Given the description of an element on the screen output the (x, y) to click on. 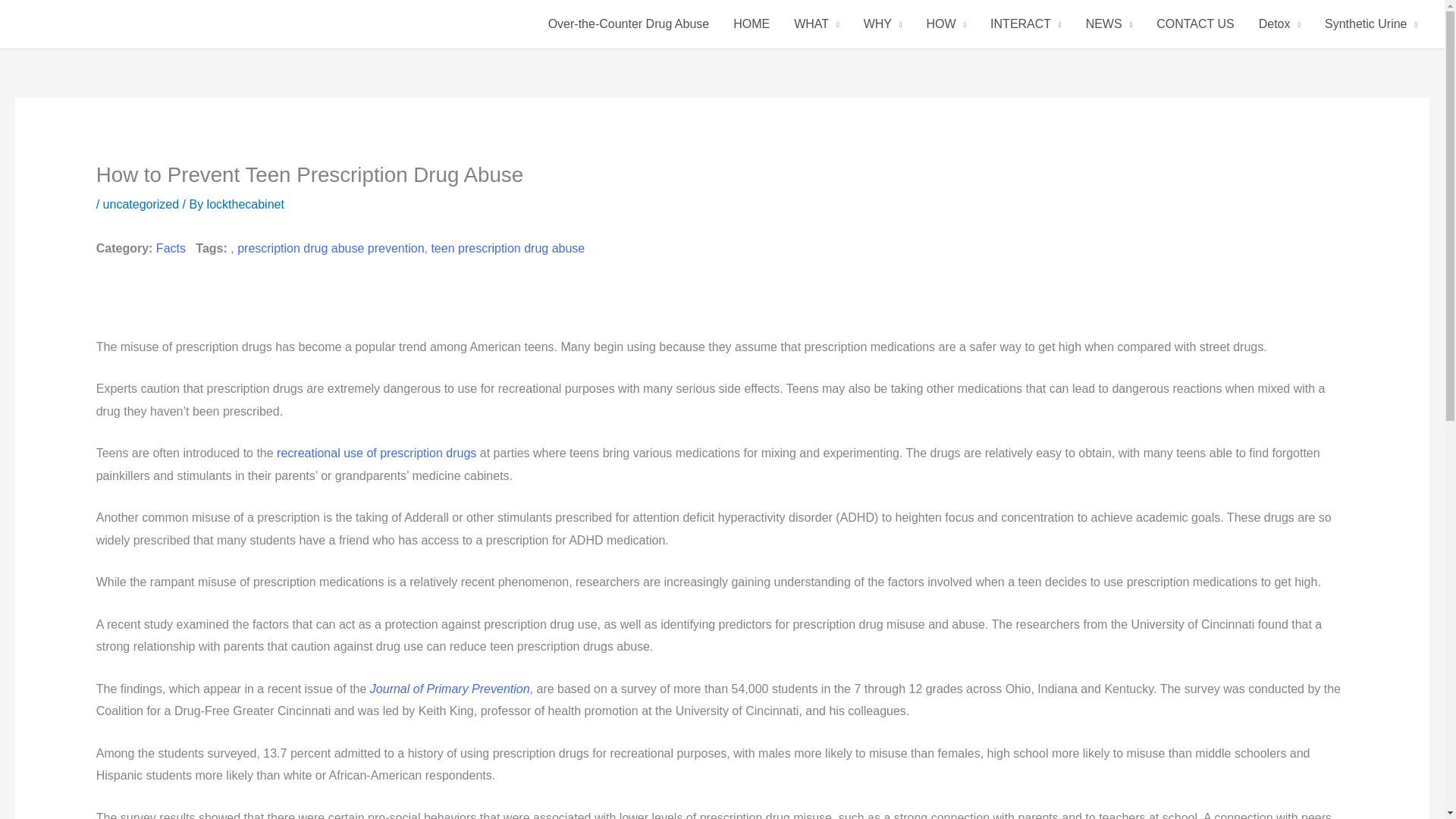
NEWS (1109, 24)
WHY (882, 24)
HOME (750, 24)
INTERACT (1026, 24)
HOW (946, 24)
WHAT (815, 24)
Over-the-Counter Drug Abuse (628, 24)
View all posts by lockthecabinet (244, 204)
